Given the description of an element on the screen output the (x, y) to click on. 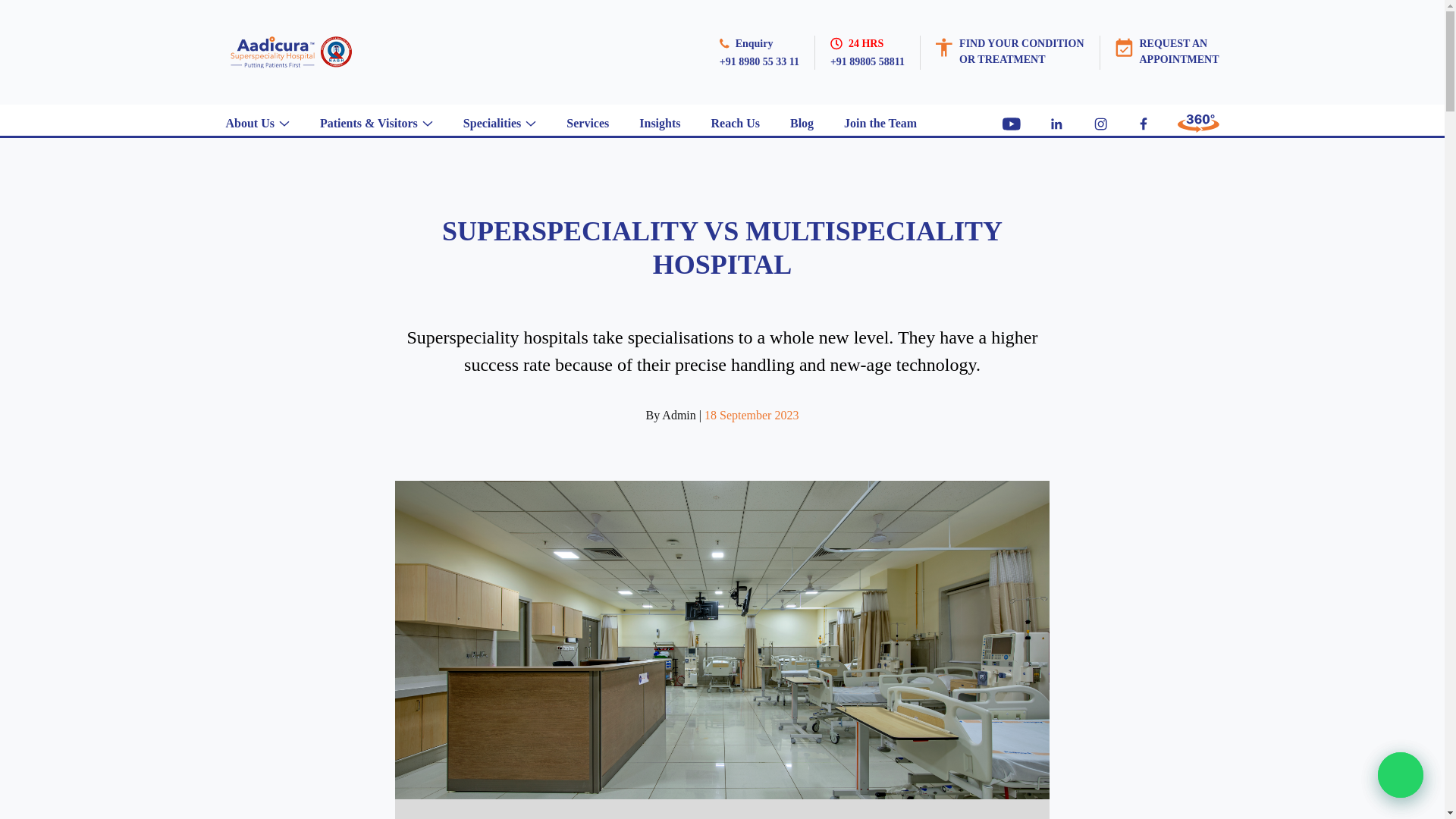
Join the Team (880, 123)
Services (587, 123)
Specialities (1178, 51)
Reach Us (492, 123)
About Us (1021, 51)
Insights (735, 123)
